Given the description of an element on the screen output the (x, y) to click on. 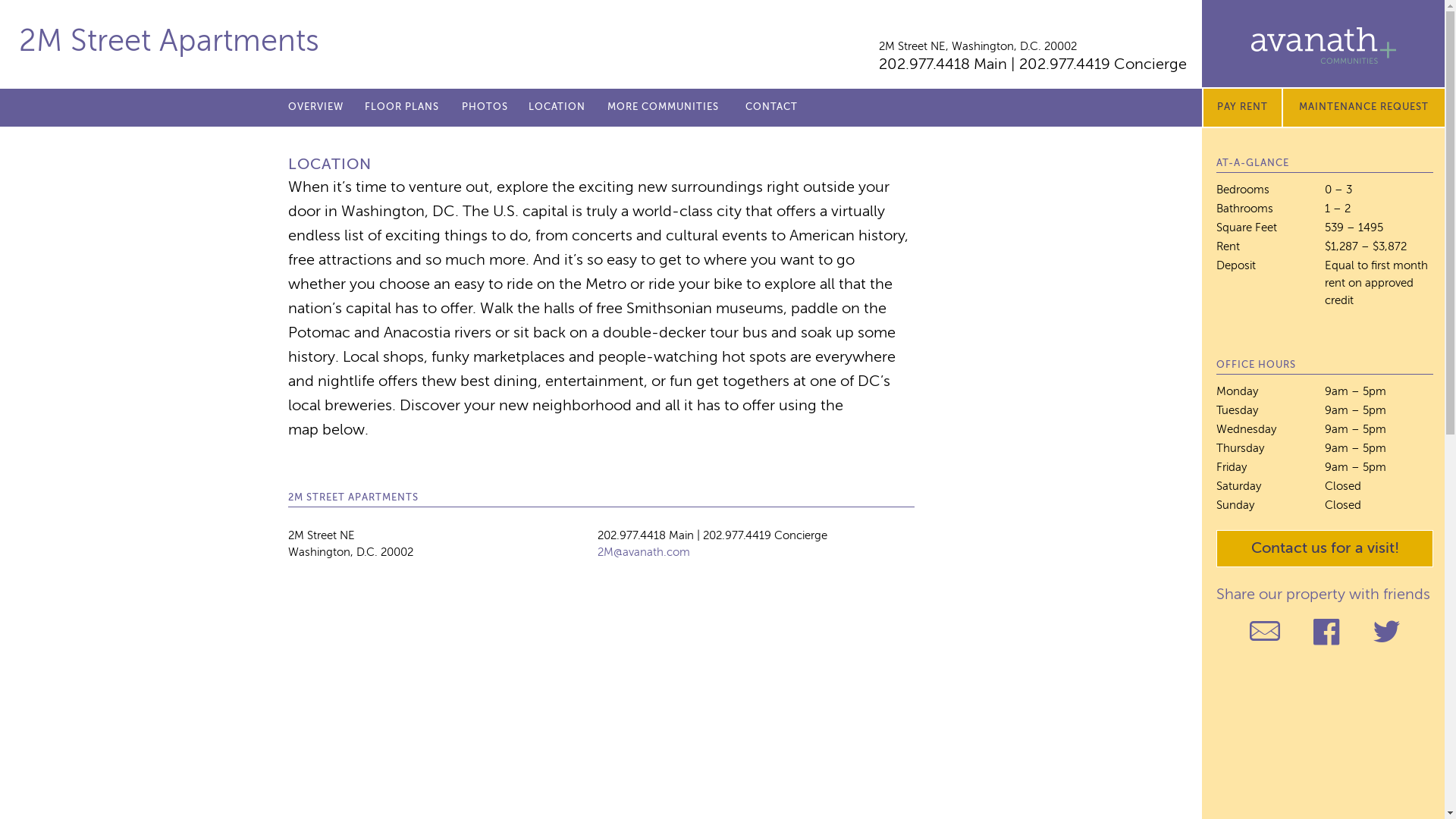
FLOOR PLANS Element type: text (401, 107)
MORE COMMUNITIES Element type: text (662, 107)
CONTACT Element type: text (771, 107)
LOCATION Element type: text (556, 107)
PAY RENT Element type: text (1243, 107)
202.977.4419 Element type: text (1064, 64)
2M Street NE, Washington, D.C. 20002 Element type: text (977, 46)
Share on Twitter Element type: hover (1386, 631)
Share Email Element type: hover (1264, 631)
Contact us for a visit! Element type: text (1324, 548)
MAINTENANCE REQUEST Element type: text (1363, 107)
202.977.4418 Element type: text (923, 64)
PHOTOS Element type: text (484, 107)
OVERVIEW Element type: text (315, 107)
2M@avanath.com Element type: text (643, 552)
Share on Facebook Element type: hover (1326, 631)
2M Street Apartments Element type: text (168, 42)
Avanath Communities Element type: text (1323, 45)
